Given the description of an element on the screen output the (x, y) to click on. 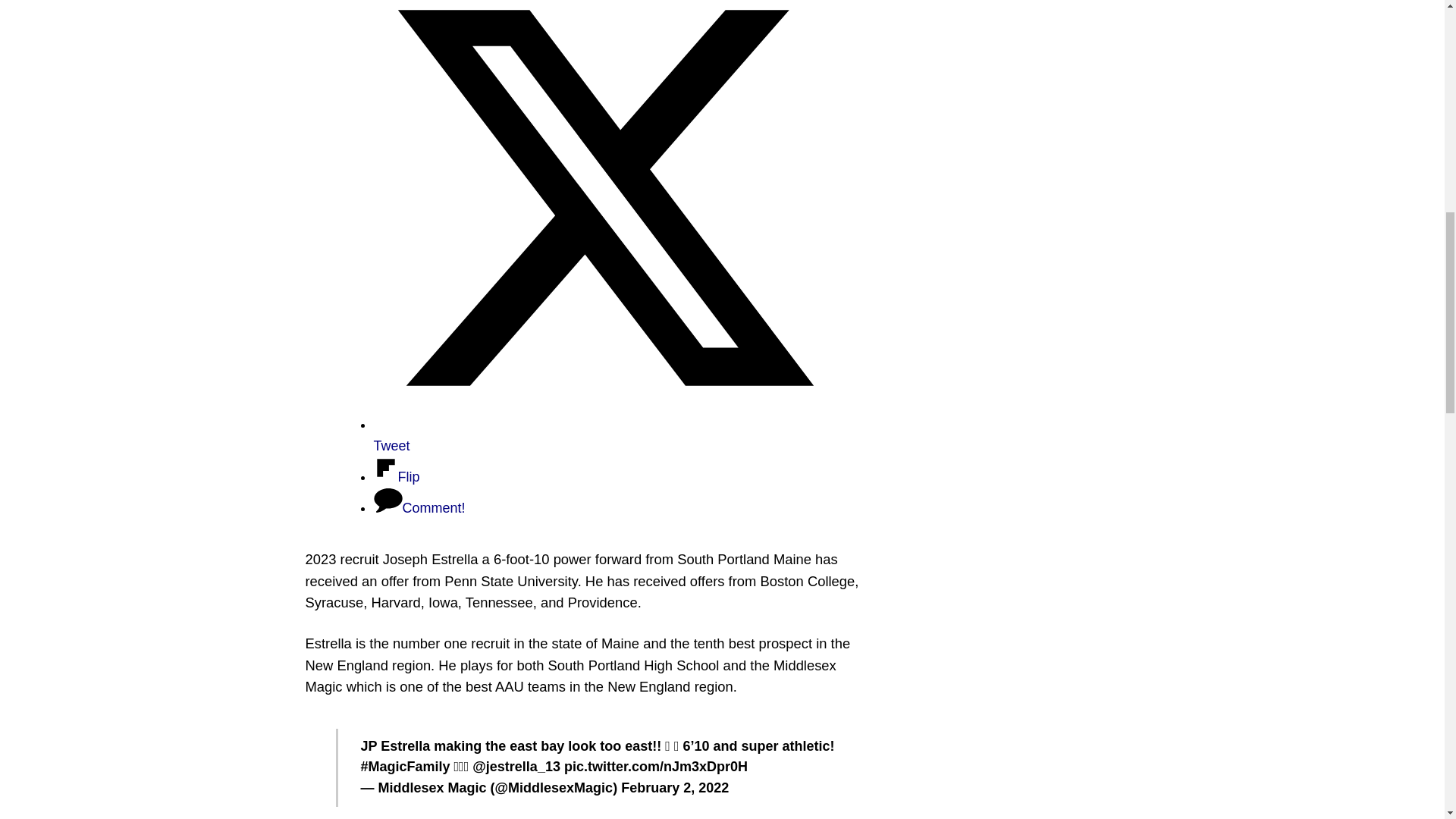
Share on Tweet (603, 434)
Share on Flip (395, 476)
Share on Comment! (418, 507)
